Given the description of an element on the screen output the (x, y) to click on. 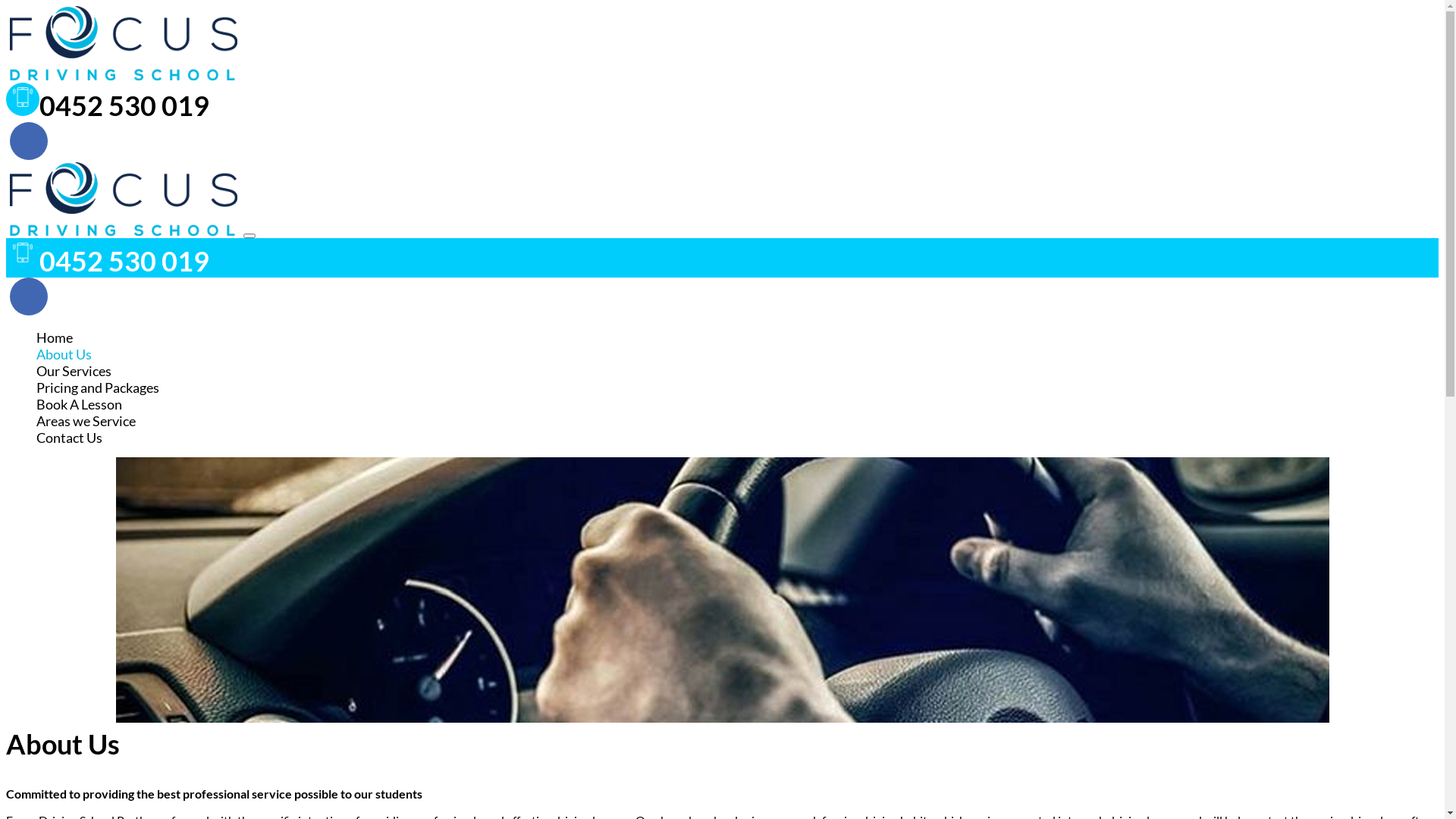
Our Services Element type: text (73, 370)
0452 530 019 Element type: text (107, 260)
Contact Us Element type: text (69, 437)
Pricing and Packages Element type: text (97, 387)
Book A Lesson Element type: text (79, 403)
Home Element type: text (54, 337)
About Us Element type: text (63, 353)
0452 530 019 Element type: text (107, 105)
Areas we Service Element type: text (85, 420)
